Given the description of an element on the screen output the (x, y) to click on. 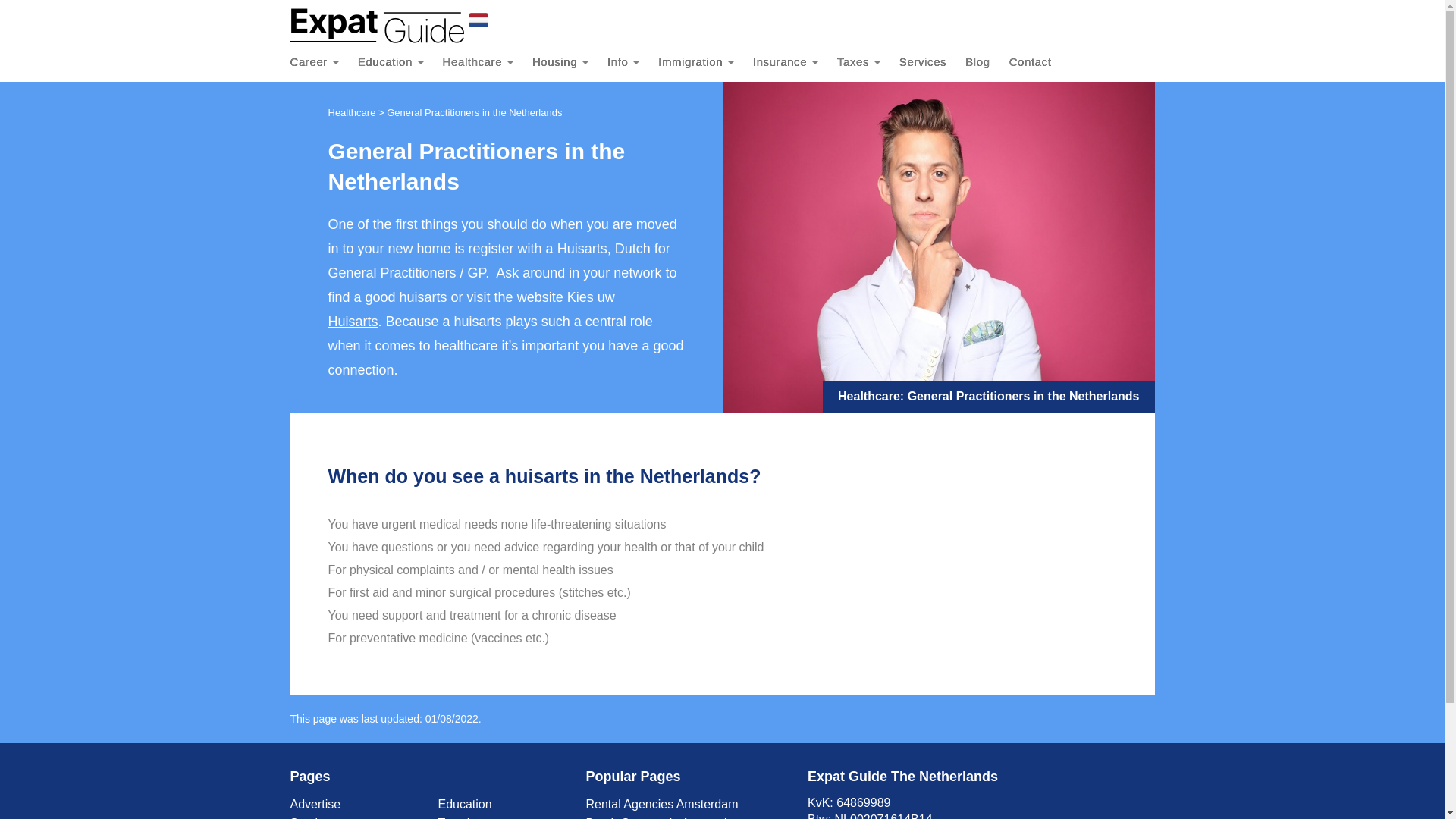
Career (322, 61)
Education (400, 61)
Housing (569, 61)
Healthcare (487, 61)
